Given the description of an element on the screen output the (x, y) to click on. 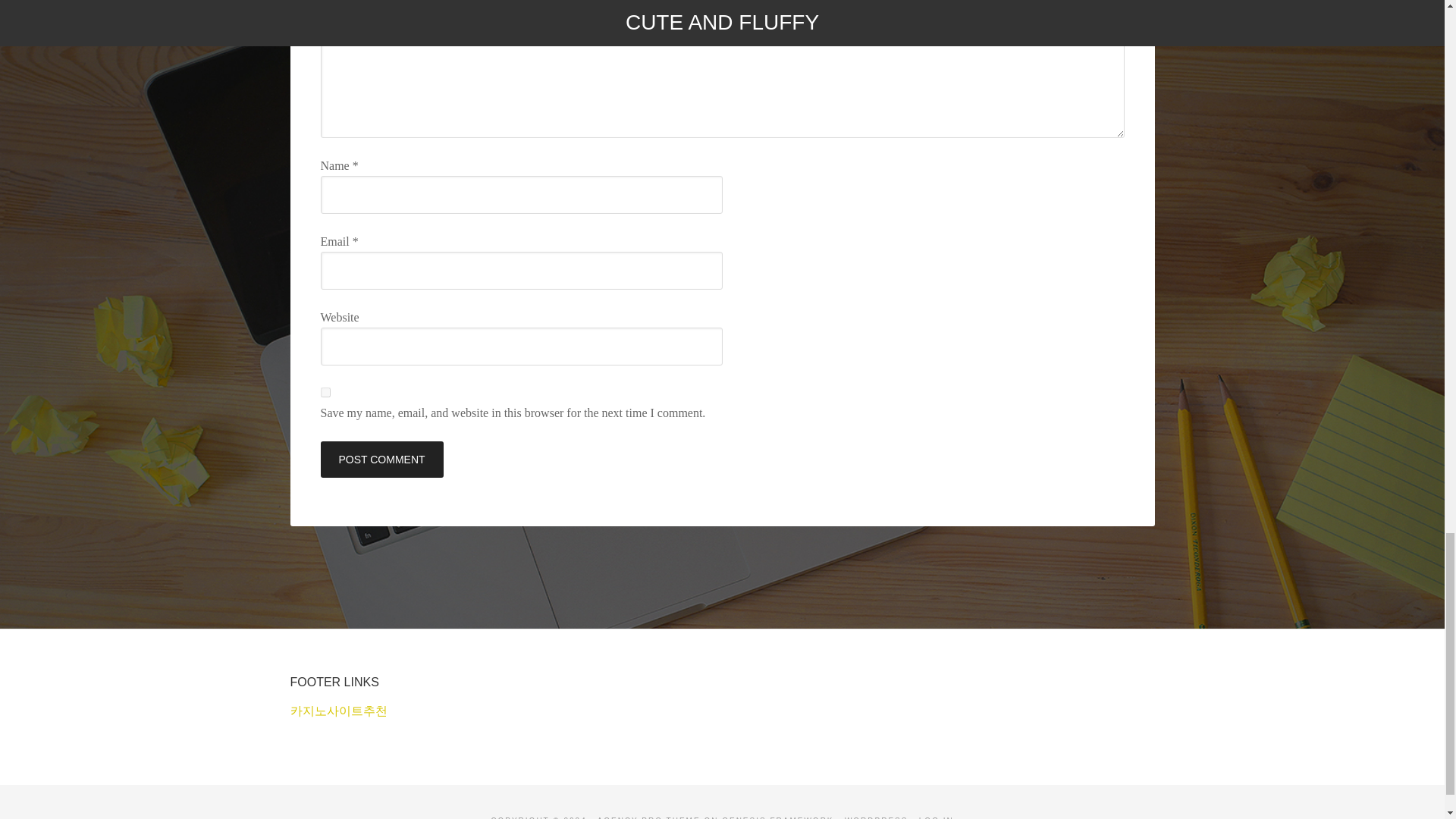
GENESIS FRAMEWORK (777, 817)
Post Comment (381, 459)
WORDPRESS (876, 817)
yes (325, 392)
AGENCY PRO THEME (648, 817)
LOG IN (935, 817)
Post Comment (381, 459)
